Given the description of an element on the screen output the (x, y) to click on. 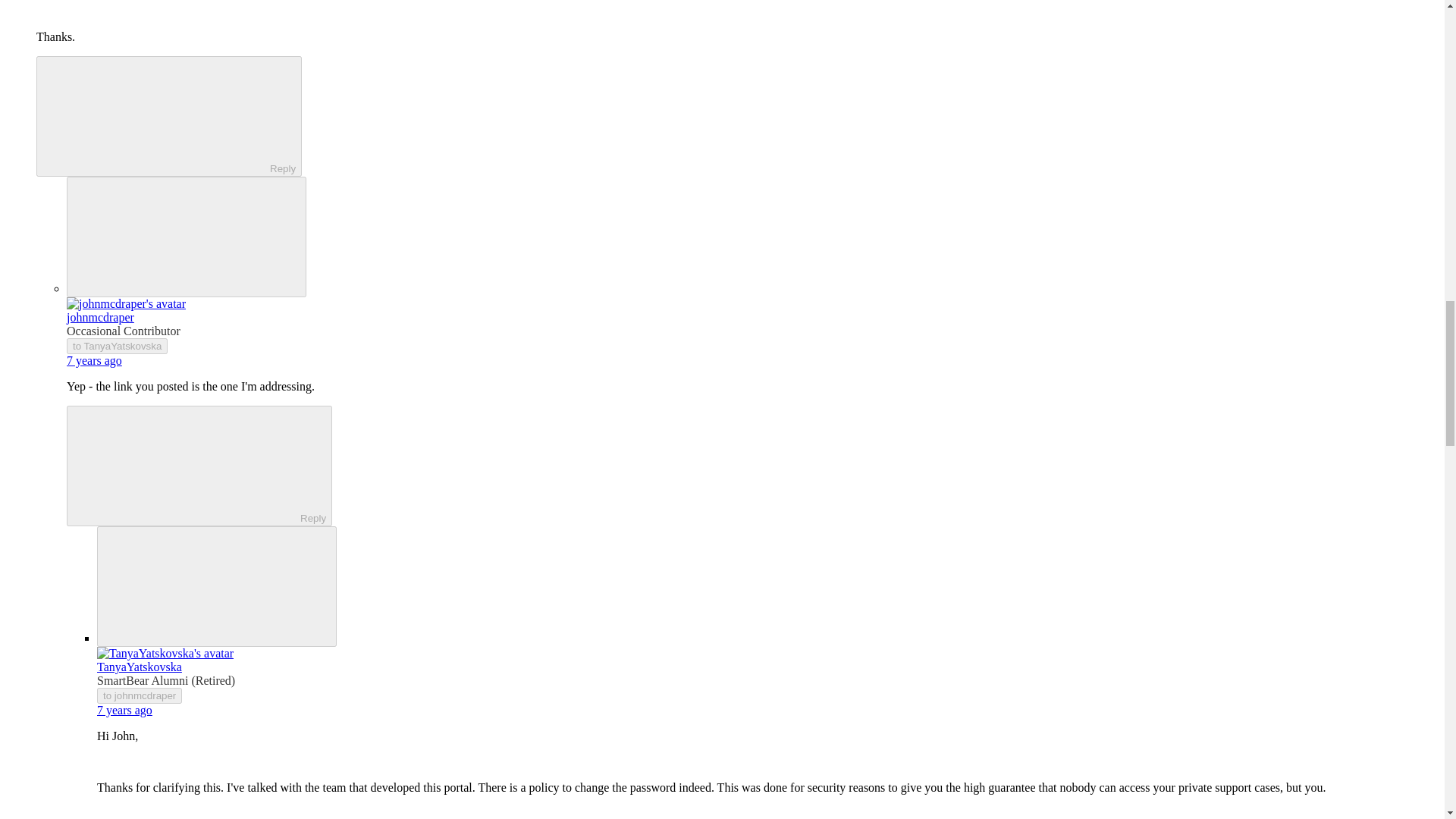
TanyaYatskovska (139, 666)
June 8, 2018 at 9:17 AM (124, 709)
7 years ago (124, 709)
Reply (155, 114)
to johnmcdraper (139, 695)
7 years ago (94, 359)
Reply (185, 464)
June 7, 2018 at 7:46 PM (94, 359)
johnmcdraper (99, 317)
ReplyReply (198, 465)
